Given the description of an element on the screen output the (x, y) to click on. 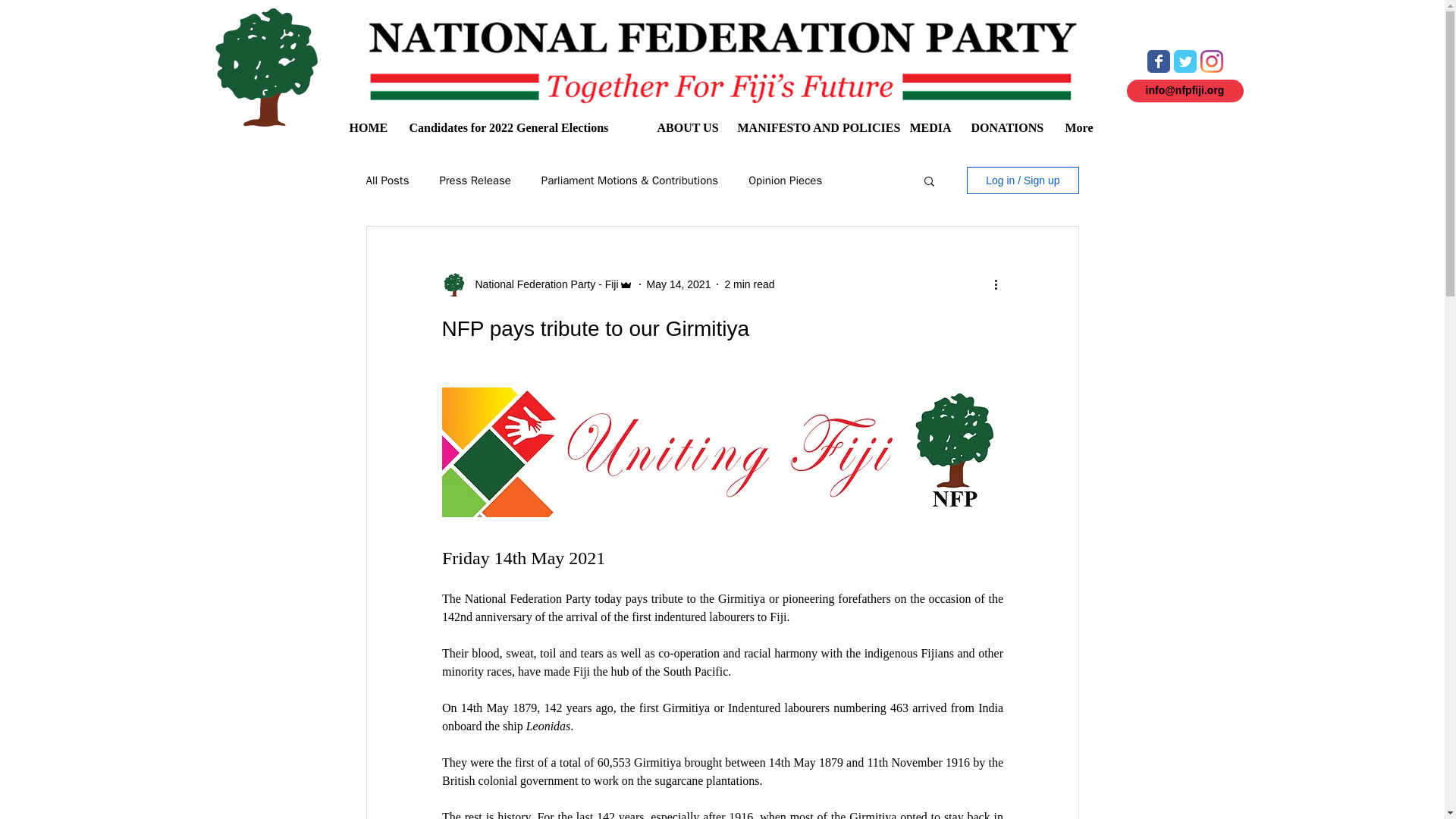
Press Release (475, 179)
National Federation Party - Fiji (541, 283)
MANIFESTO AND POLICIES (812, 127)
May 14, 2021 (678, 283)
All Posts (387, 179)
2 min read (748, 283)
HOME (367, 127)
DONATIONS (1006, 127)
Candidates for 2022 General Elections (521, 127)
Opinion Pieces (785, 179)
